Given the description of an element on the screen output the (x, y) to click on. 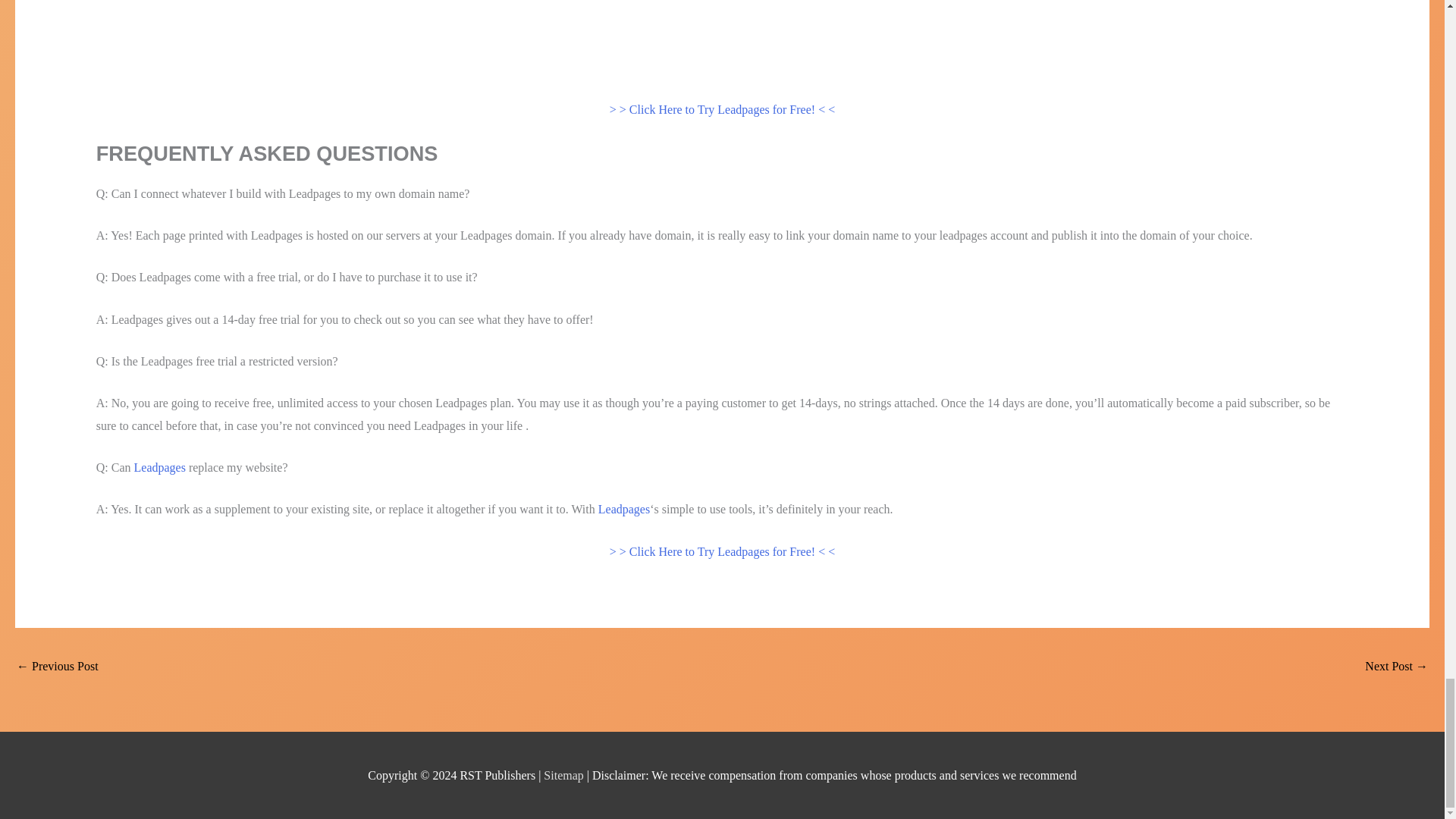
Sitemap (564, 775)
How to Edit Leadpages in Browser (57, 667)
Leadpages (623, 508)
Leadpages (158, 467)
Leadpages on Wordpress if Already Exists (1396, 667)
